Given the description of an element on the screen output the (x, y) to click on. 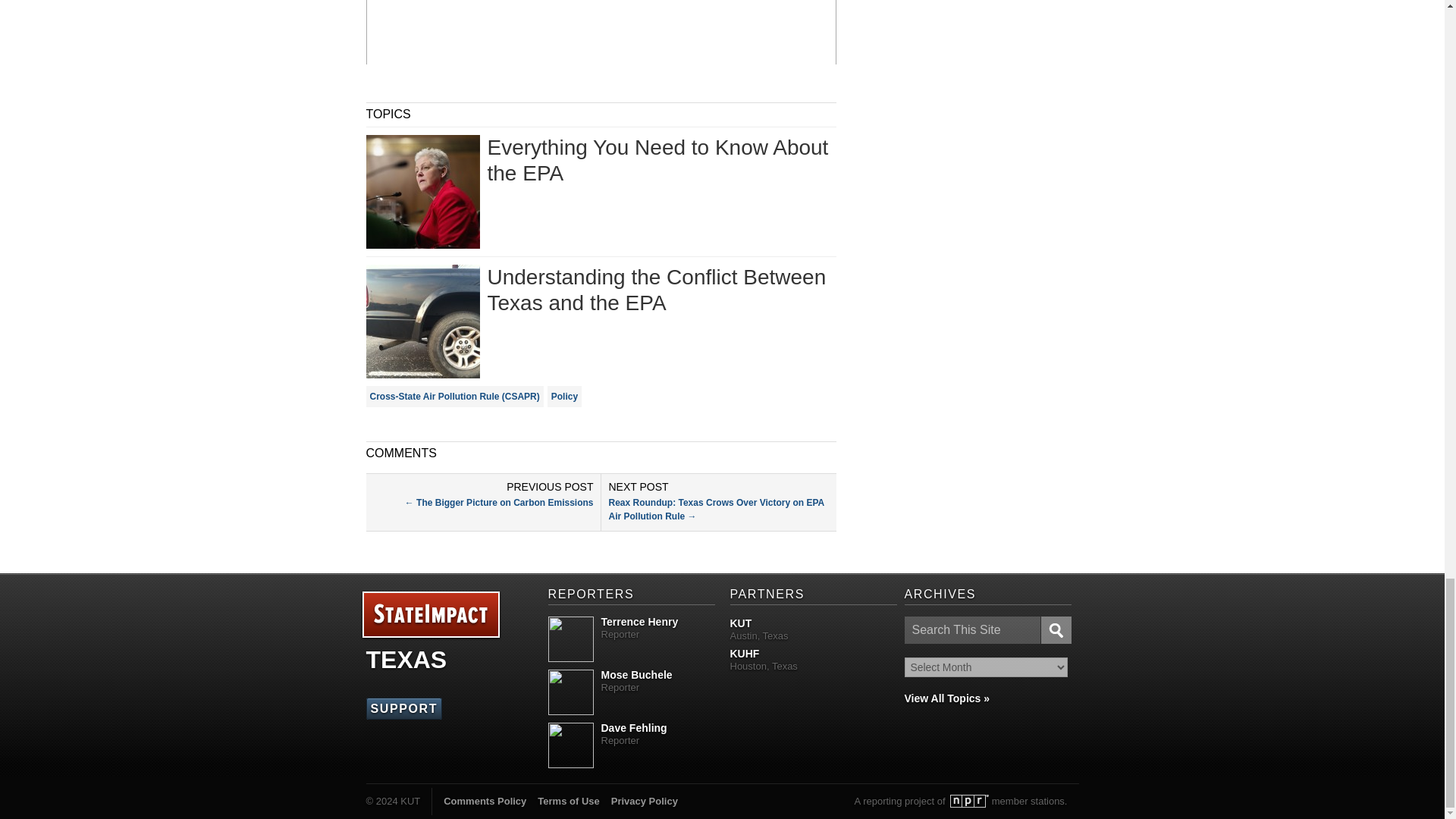
Texas (405, 659)
Policy (563, 396)
StateImpact (430, 615)
Visit npr.org (969, 800)
